Given the description of an element on the screen output the (x, y) to click on. 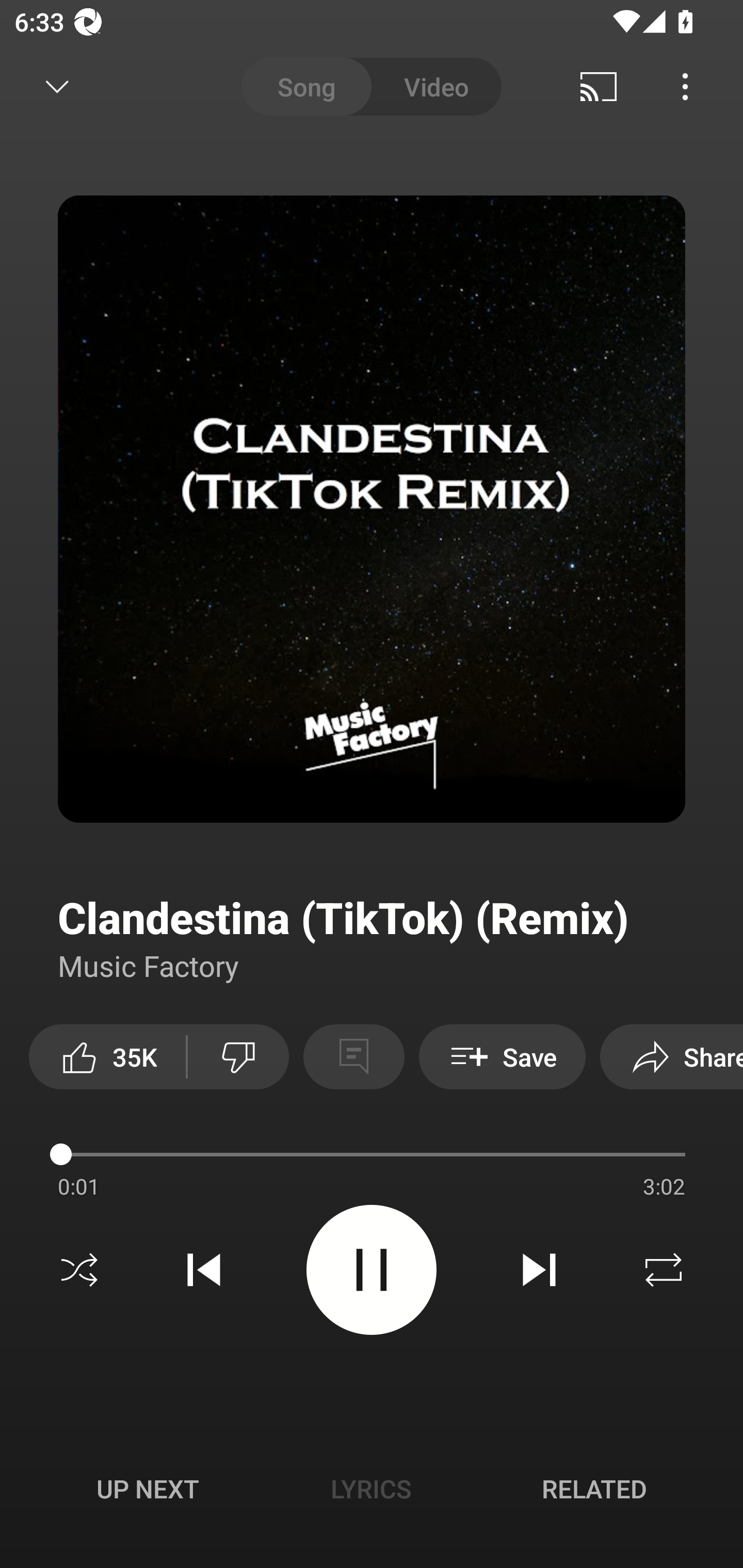
Minimize (57, 86)
Cast. Disconnected (598, 86)
Menu (684, 86)
Music Factory (148, 964)
35K like this video along with 35,710 other people (106, 1056)
Dislike (238, 1056)
Comments disabled. (353, 1056)
Save Save to playlist (502, 1056)
Share (671, 1056)
Pause video (371, 1269)
Shuffle off (79, 1269)
Previous track (203, 1269)
Next track (538, 1269)
Repeat off (663, 1269)
Up next UP NEXT Lyrics LYRICS Related RELATED (371, 1491)
Lyrics LYRICS (370, 1488)
Related RELATED (594, 1488)
